Given the description of an element on the screen output the (x, y) to click on. 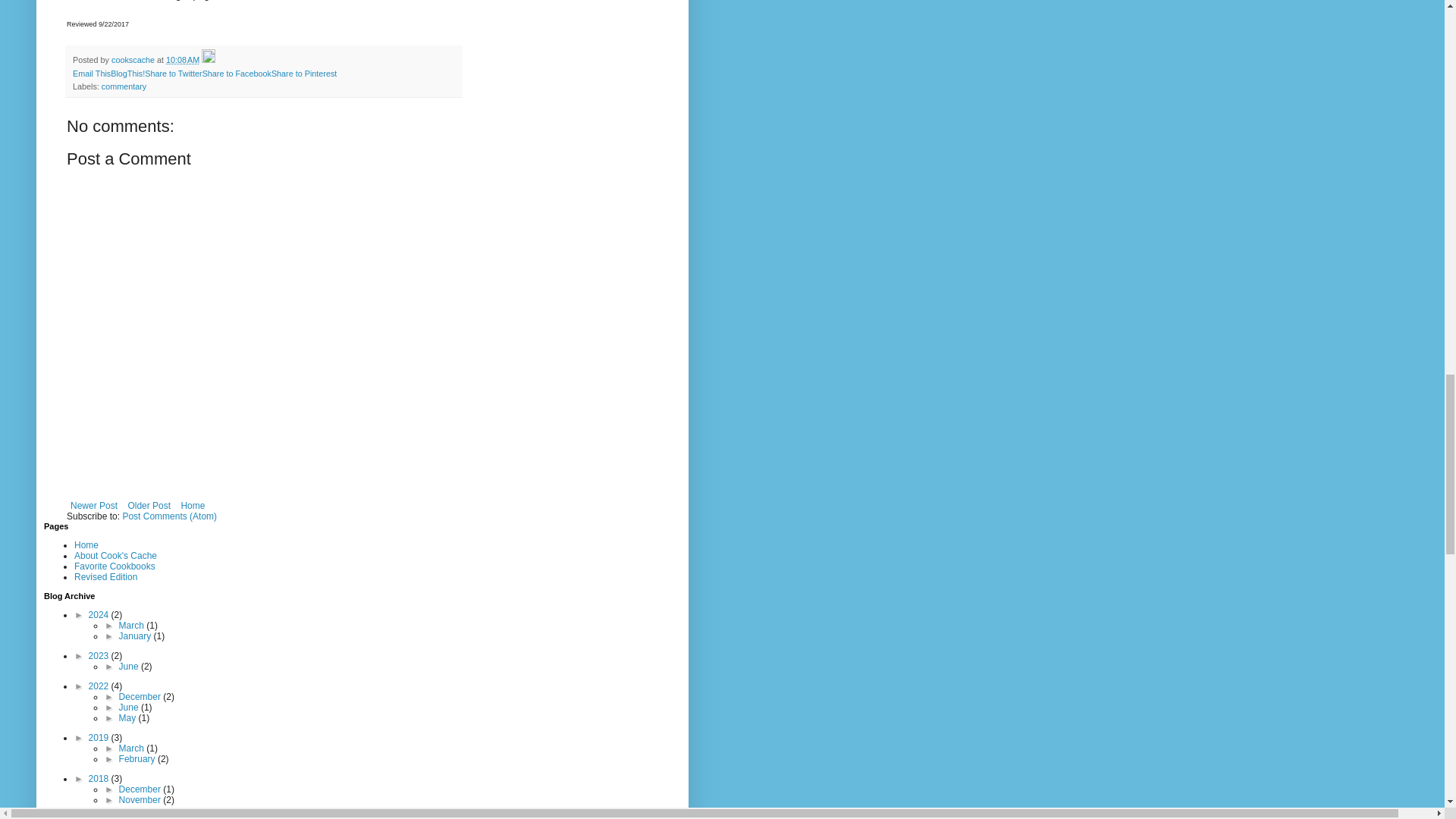
BlogThis! (127, 72)
Share to Facebook (236, 72)
Older Post (148, 505)
Share to Twitter (173, 72)
Newer Post (93, 505)
Email This (91, 72)
cookscache (134, 59)
author profile (134, 59)
permanent link (182, 59)
Edit Post (208, 59)
Share to Pinterest (303, 72)
Email This (91, 72)
